Given the description of an element on the screen output the (x, y) to click on. 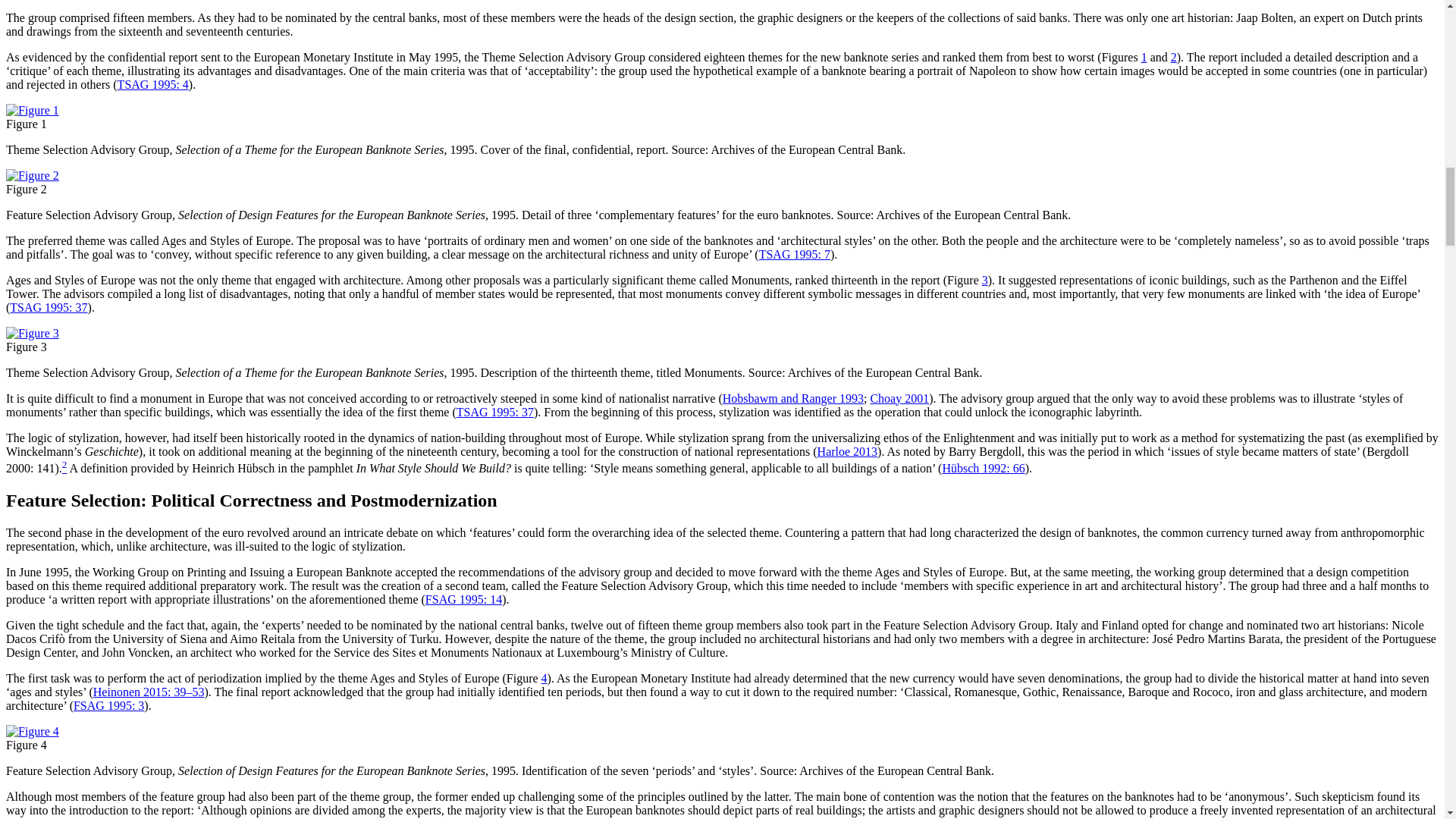
Figure 3 (32, 332)
Figure 4 (32, 730)
Figure 2 (32, 174)
Figure 1 (32, 110)
